Given the description of an element on the screen output the (x, y) to click on. 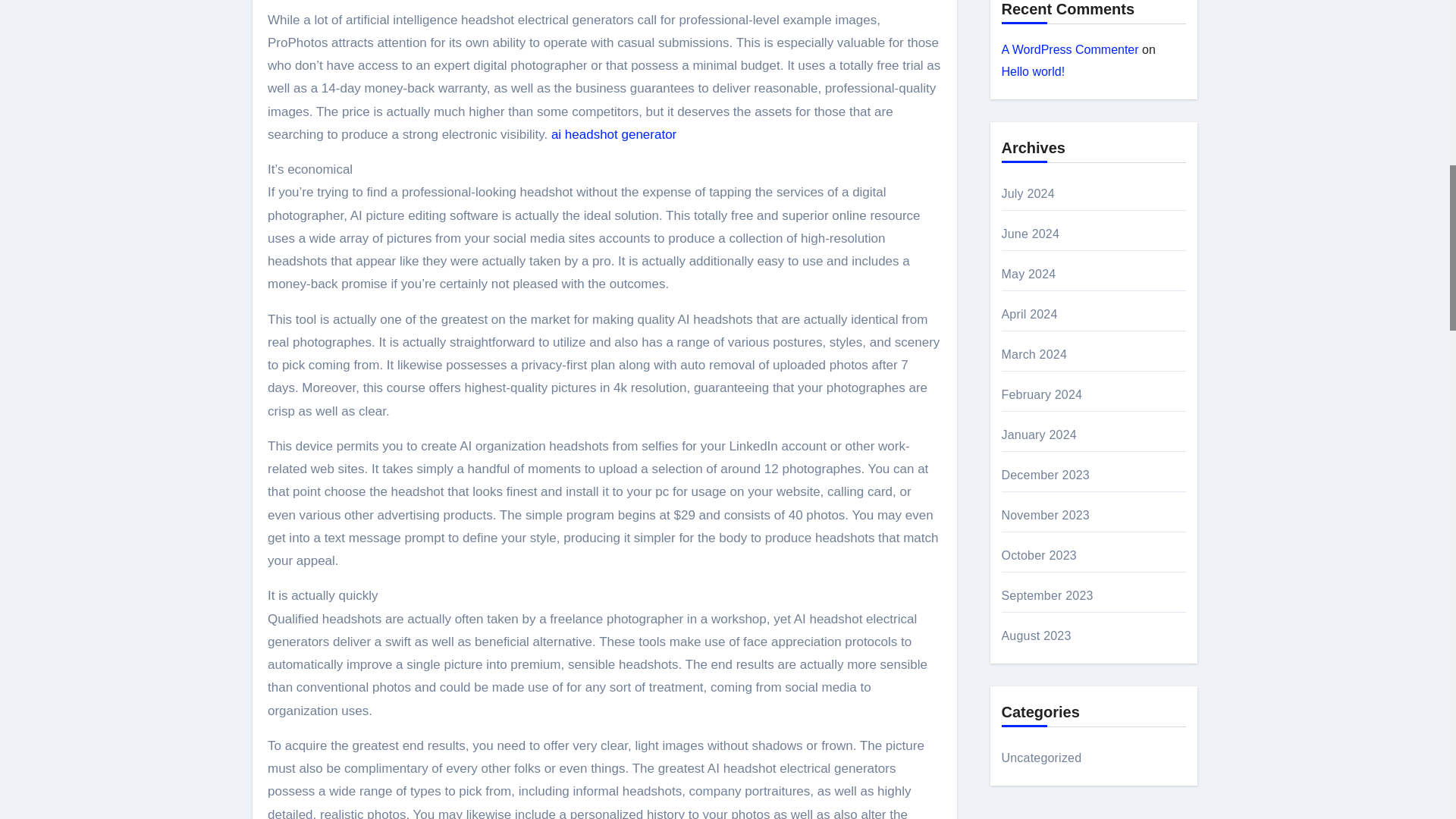
ai headshot generator (614, 134)
